Given the description of an element on the screen output the (x, y) to click on. 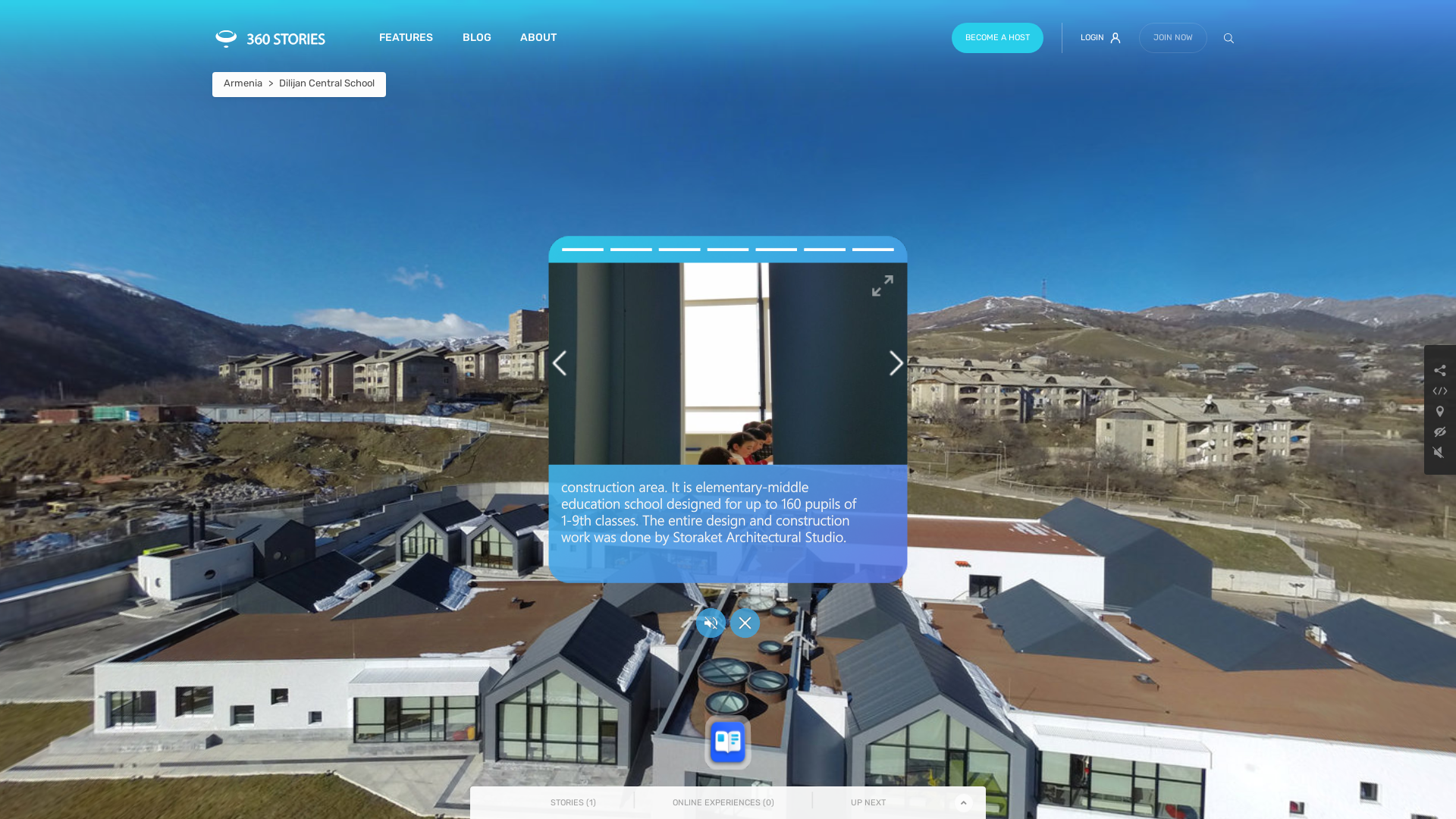
BECOME A HOST Element type: text (997, 37)
UP NEXT Element type: text (868, 802)
JOIN NOW Element type: text (1173, 37)
STORIES (1) Element type: text (573, 802)
ABOUT Element type: text (538, 37)
ONLINE EXPERIENCES (0) Element type: text (723, 802)
LOGIN Element type: text (1100, 37)
BLOG Element type: text (476, 37)
Armenia Element type: text (242, 82)
FEATURES Element type: text (405, 37)
Dilijan Central School Element type: text (326, 82)
